Given the description of an element on the screen output the (x, y) to click on. 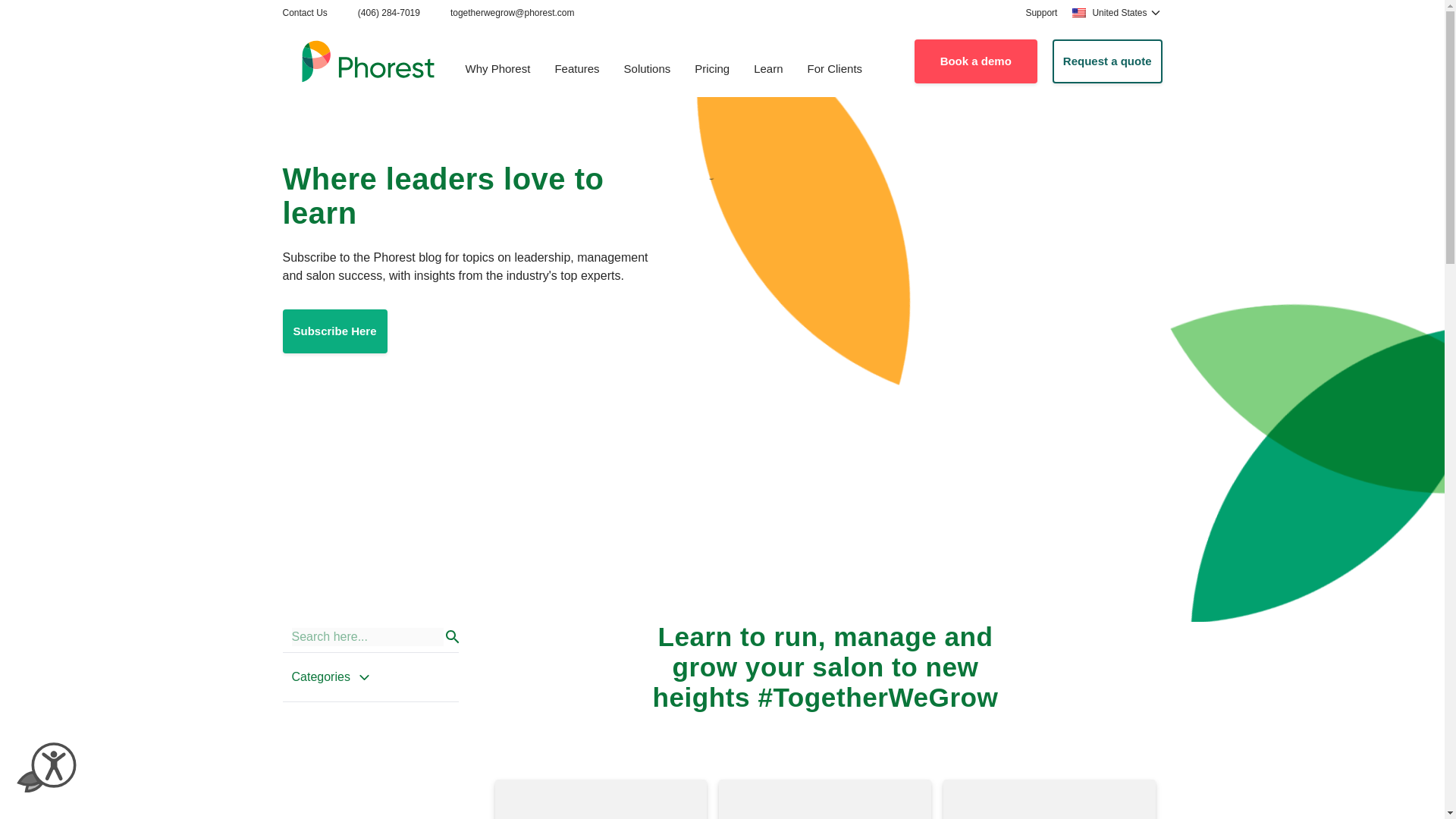
Features (576, 69)
Support (1041, 12)
Contact Us (304, 12)
Why Phorest (497, 69)
